Given the description of an element on the screen output the (x, y) to click on. 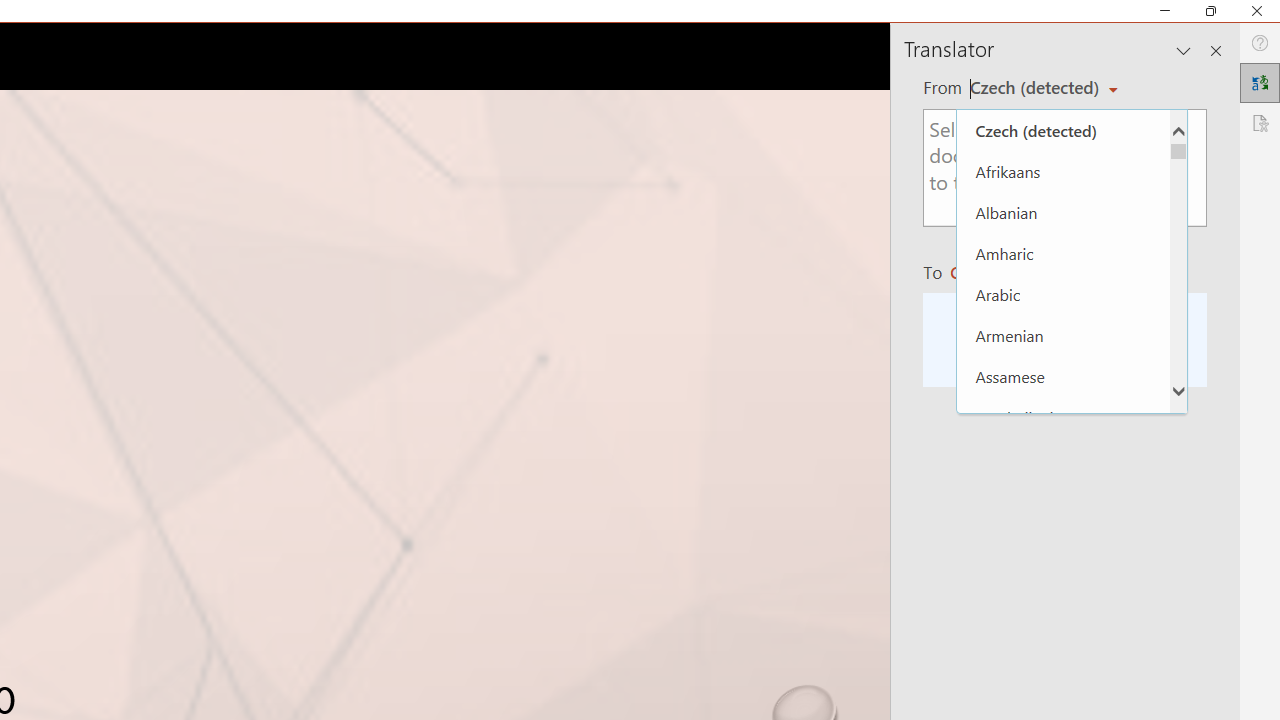
Copilot (Ctrl+Shift+.) (1241, 82)
